Given the description of an element on the screen output the (x, y) to click on. 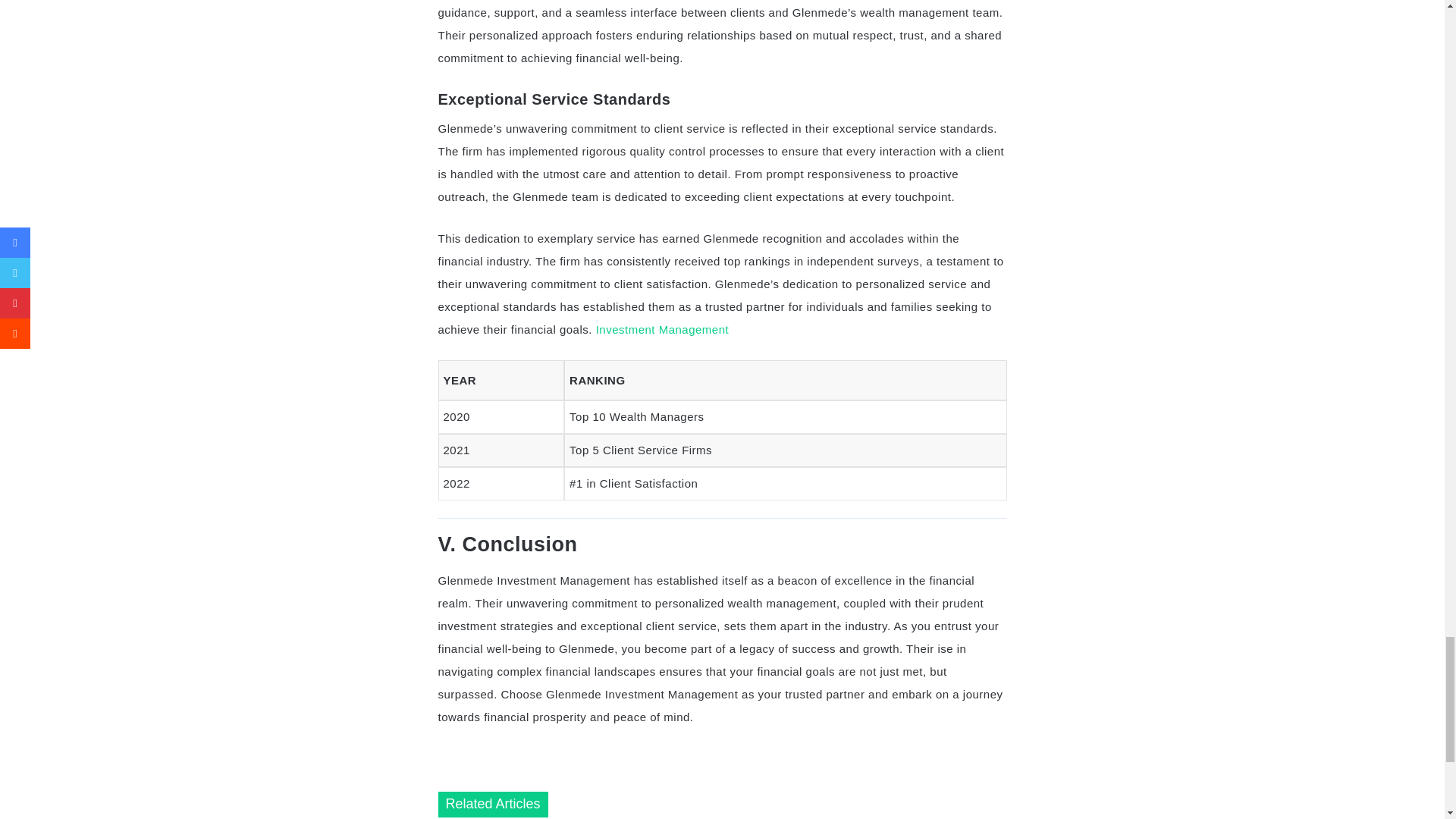
investment management (662, 328)
